Given the description of an element on the screen output the (x, y) to click on. 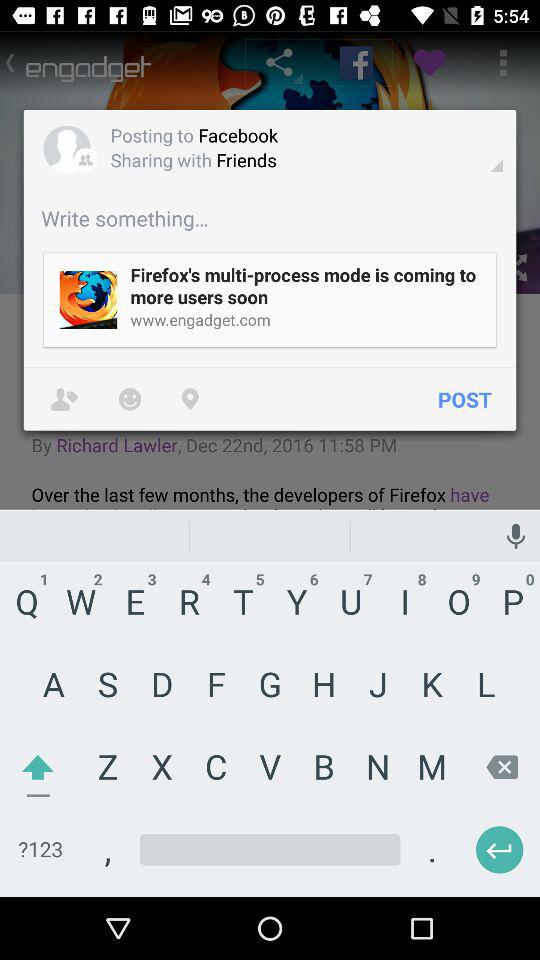
tap the facebook icon (356, 63)
